Given the description of an element on the screen output the (x, y) to click on. 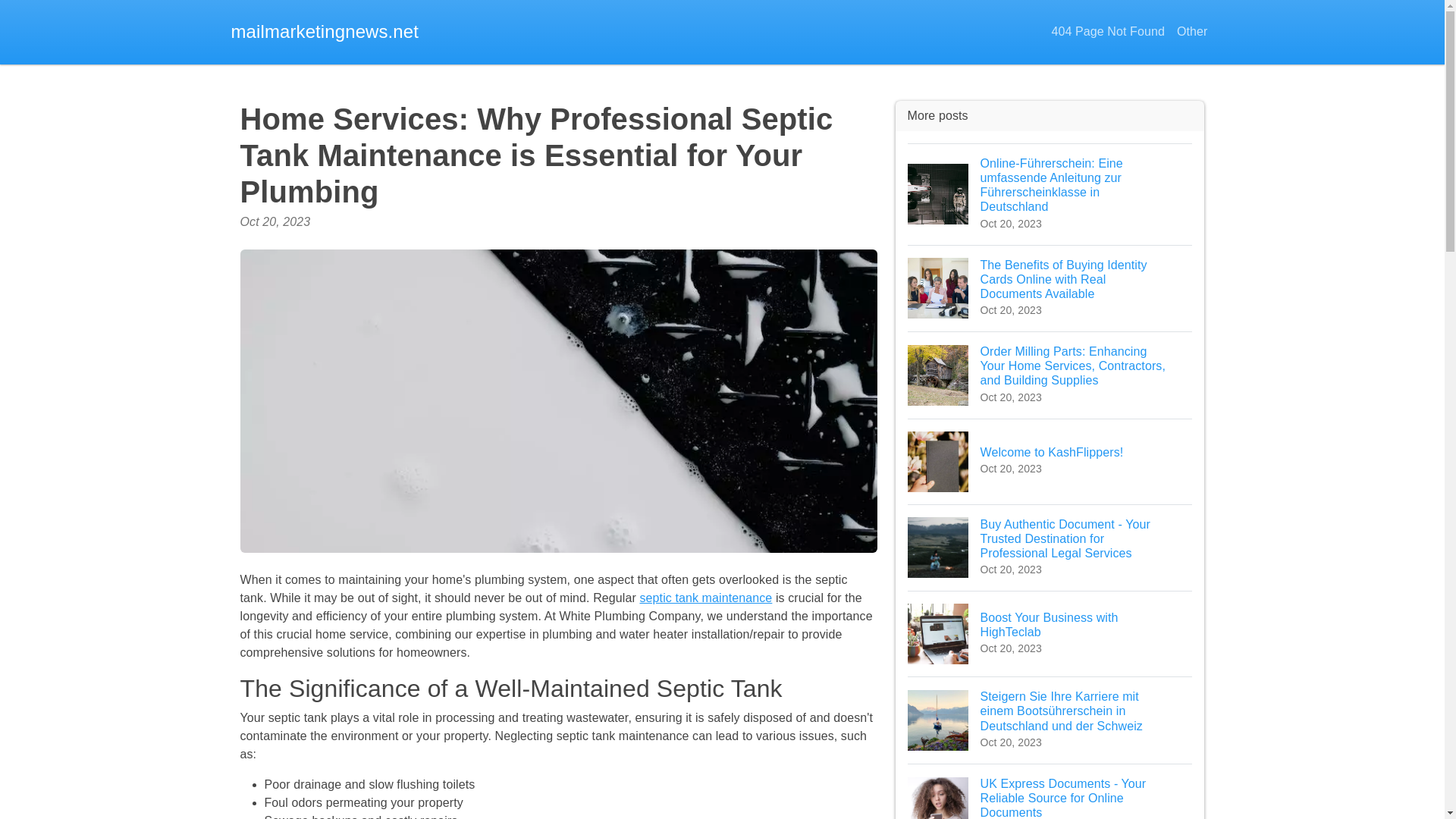
Other (1192, 32)
mailmarketingnews.net (324, 31)
septic tank maintenance (1049, 633)
404 Page Not Found (705, 597)
